Given the description of an element on the screen output the (x, y) to click on. 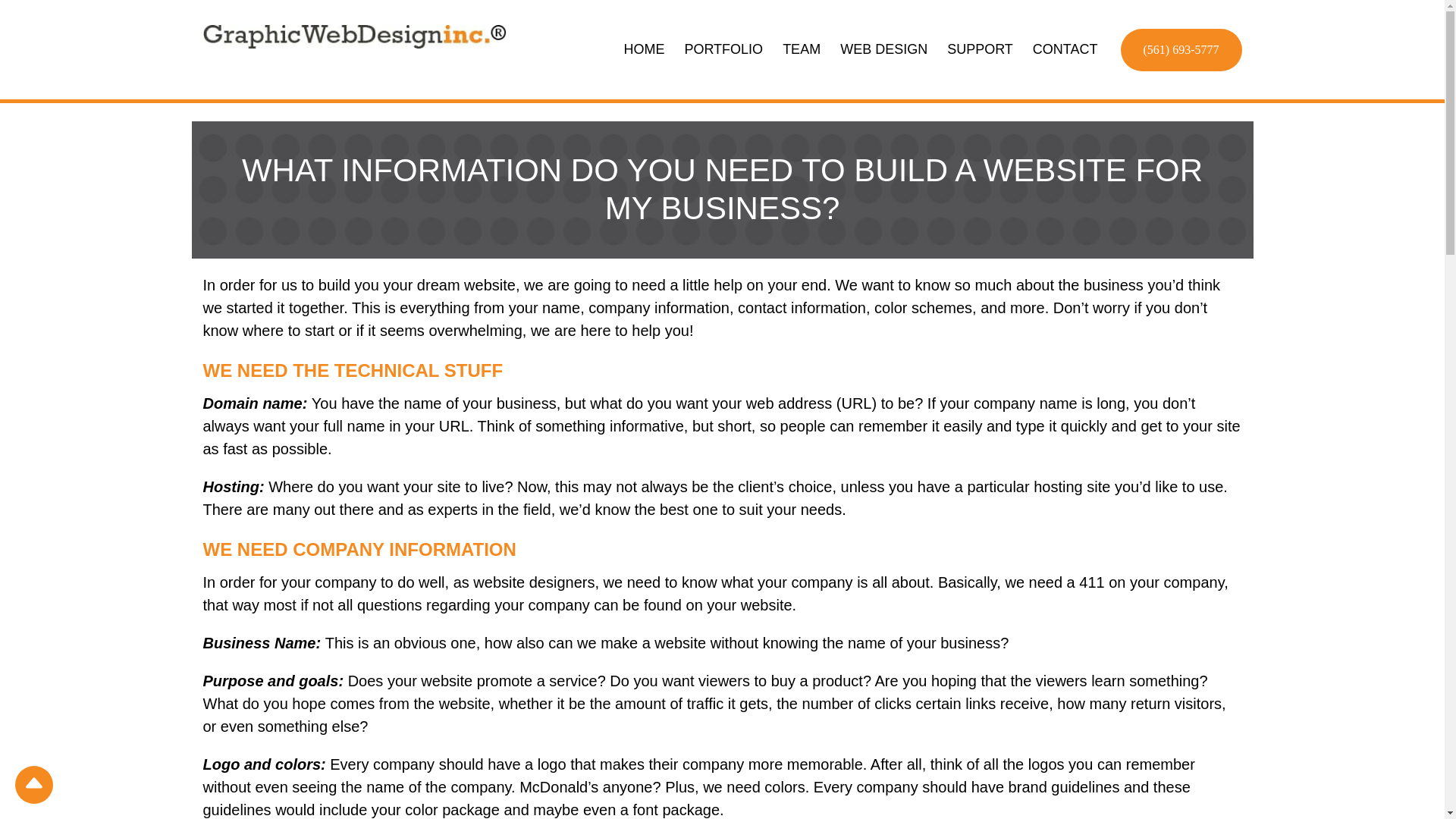
HOME (643, 49)
SUPPORT (980, 49)
CONTACT (1065, 49)
PORTFOLIO (723, 49)
TEAM (801, 49)
WEB DESIGN (883, 49)
